Given the description of an element on the screen output the (x, y) to click on. 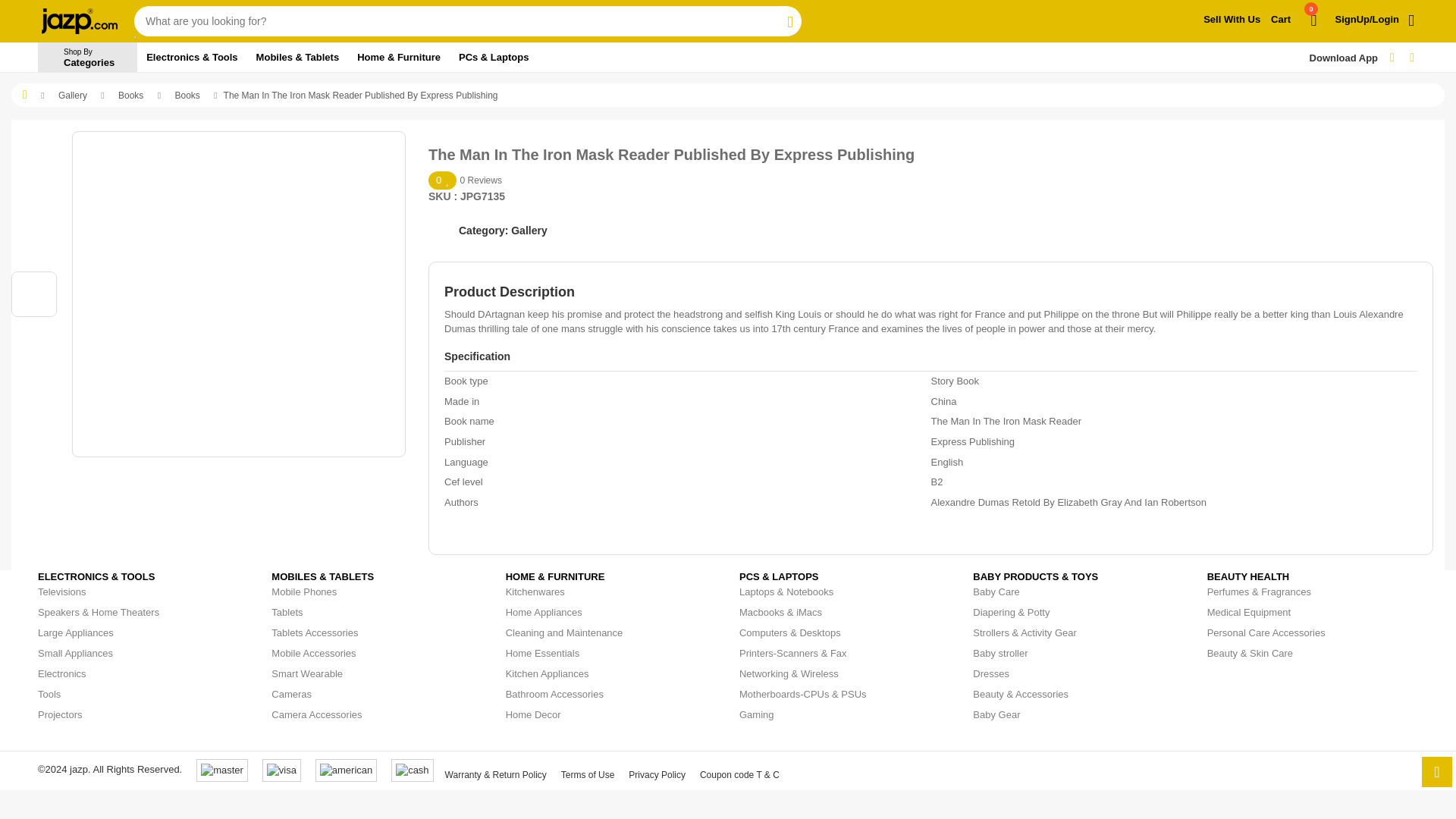
Sell With Us (86, 57)
Shop By Categories (1232, 19)
